Given the description of an element on the screen output the (x, y) to click on. 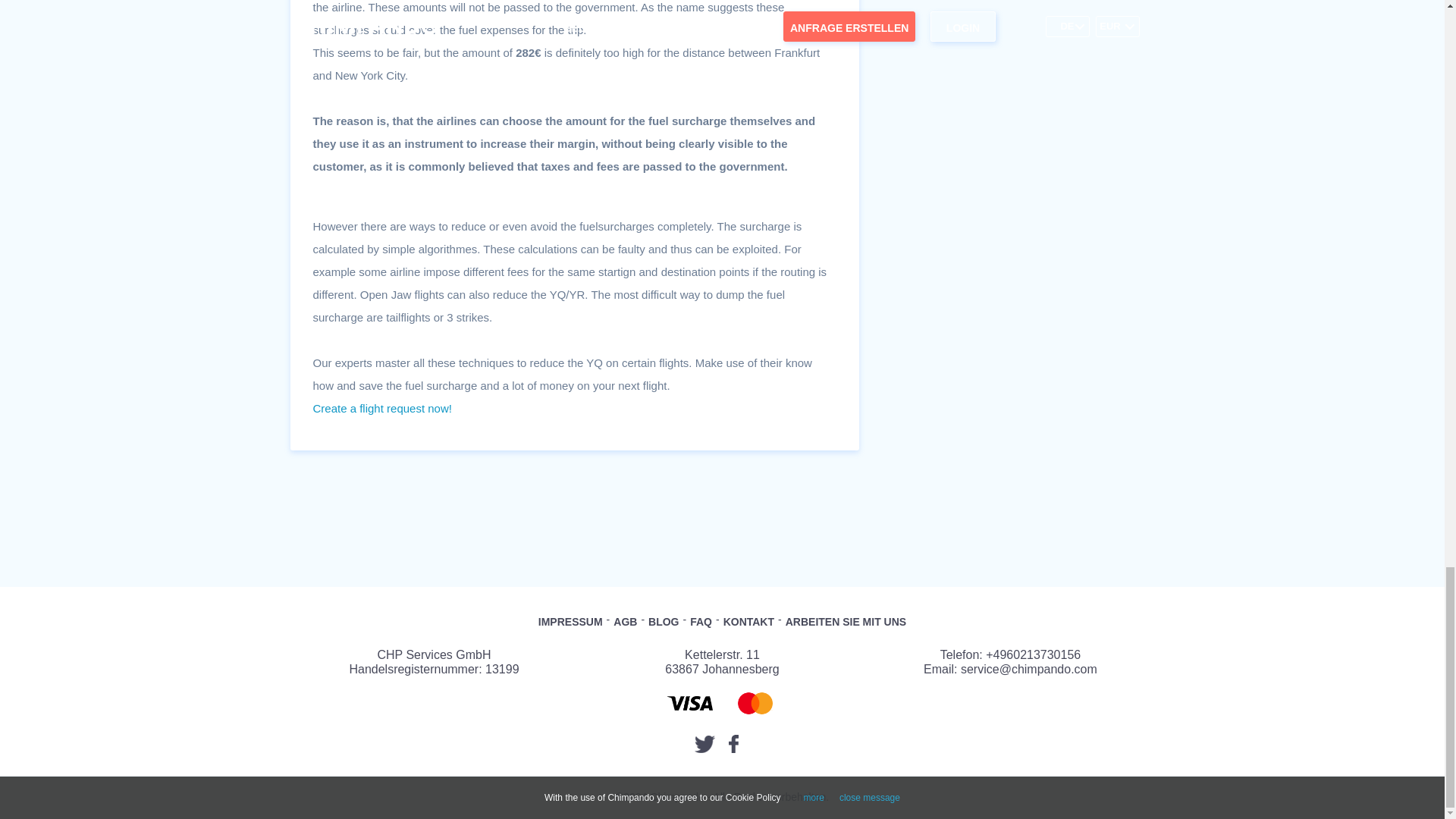
IMPRESSUM (570, 622)
ARBEITEN SIE MIT UNS (845, 622)
Create a flight request now! (382, 408)
FAQ (700, 622)
AGB (624, 622)
KONTAKT (748, 622)
BLOG (662, 622)
